Given the description of an element on the screen output the (x, y) to click on. 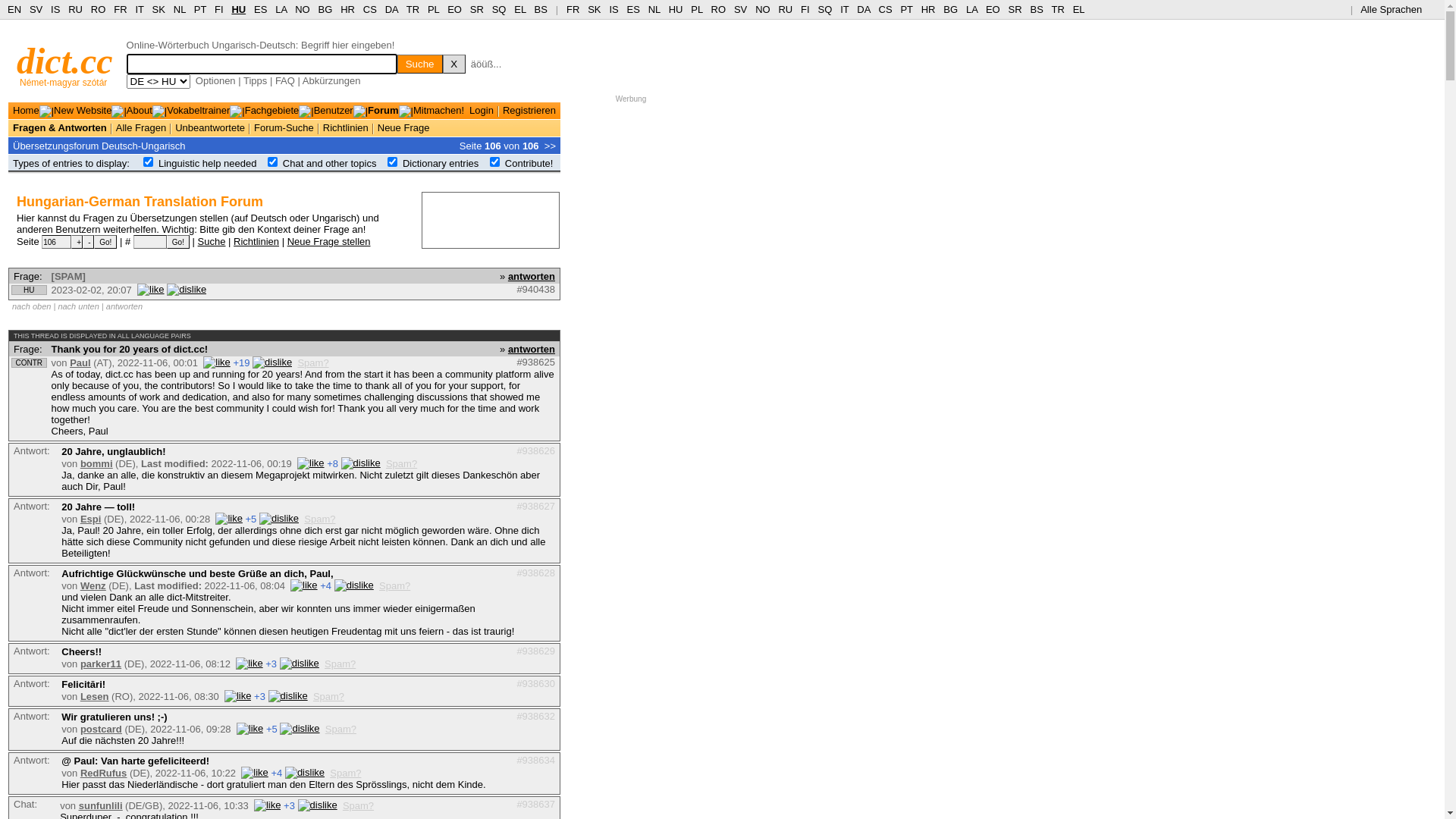
Mitmachen! Element type: text (438, 110)
Spam? Element type: text (328, 696)
SV Element type: text (35, 9)
FI Element type: text (804, 9)
Spam? Element type: text (312, 362)
on Element type: text (272, 161)
Richtlinien Element type: text (345, 127)
EO Element type: text (992, 9)
Spam? Element type: text (339, 663)
IS Element type: text (54, 9)
EL Element type: text (519, 9)
SR Element type: text (476, 9)
#938632 Element type: text (535, 715)
#938637 Element type: text (535, 803)
nach oben Element type: text (31, 305)
Neue Frage Element type: text (403, 127)
BG Element type: text (325, 9)
nach unten Element type: text (77, 305)
SR Element type: text (1015, 9)
Alle Fragen Element type: text (141, 127)
+8 Element type: text (332, 463)
Paul Element type: text (79, 362)
#938630 Element type: text (535, 683)
#940438 Element type: text (535, 288)
SV Element type: text (740, 9)
FR Element type: text (572, 9)
PL Element type: text (433, 9)
[SPAM] Element type: text (68, 276)
Hungarian-German Translation Forum Element type: text (139, 201)
Home Element type: text (25, 110)
SQ Element type: text (499, 9)
HU Element type: text (238, 9)
Espi Element type: text (90, 518)
NL Element type: text (654, 9)
ES Element type: text (260, 9)
Chat and other topics Element type: text (329, 163)
Suche Element type: text (419, 63)
NL Element type: text (179, 9)
Spam? Element type: text (344, 772)
+4 Element type: text (325, 585)
NO Element type: text (762, 9)
dict.cc Element type: text (64, 60)
ES Element type: text (633, 9)
+5 Element type: text (271, 728)
Wenz Element type: text (93, 585)
SQ Element type: text (824, 9)
on Element type: text (392, 161)
RO Element type: text (98, 9)
Spam? Element type: text (357, 805)
BS Element type: text (540, 9)
+3 Element type: text (288, 805)
SK Element type: text (593, 9)
CONTR Element type: text (28, 362)
SK Element type: text (158, 9)
EO Element type: text (454, 9)
NO Element type: text (302, 9)
Benutzer Element type: text (333, 110)
PT Element type: text (906, 9)
antworten Element type: text (531, 275)
IS Element type: text (613, 9)
About Element type: text (139, 110)
on Element type: text (148, 161)
Optionen Element type: text (215, 80)
#938626 Element type: text (535, 449)
PL Element type: text (696, 9)
antworten Element type: text (124, 305)
Spam? Element type: text (319, 518)
bommi Element type: text (96, 463)
Lesen Element type: text (94, 696)
RU Element type: text (75, 9)
TR Element type: text (1057, 9)
LA Element type: text (280, 9)
FI Element type: text (218, 9)
Spam? Element type: text (340, 728)
Go! Element type: text (177, 241)
Richtlinien Element type: text (256, 240)
HU Element type: text (28, 289)
X Element type: text (453, 63)
Tipps Element type: text (254, 80)
Neue Frage stellen Element type: text (328, 240)
Spam? Element type: text (401, 463)
Registrieren Element type: text (528, 110)
Spam? Element type: text (394, 585)
Unbeantwortete Element type: text (209, 127)
+19 Element type: text (240, 362)
TR Element type: text (412, 9)
+3 Element type: text (259, 696)
postcard Element type: text (101, 728)
Login Element type: text (481, 110)
+4 Element type: text (276, 772)
Contribute! Element type: text (529, 163)
parker11 Element type: text (100, 663)
PT Element type: text (200, 9)
sunfunlili Element type: text (100, 805)
#938628 Element type: text (535, 572)
Forum Element type: text (382, 110)
RedRufus Element type: text (103, 772)
LA Element type: text (971, 9)
Linguistic help needed Element type: text (207, 163)
EN Element type: text (14, 9)
Fragen & Antworten Element type: text (59, 127)
Alle Sprachen  Element type: text (1397, 9)
>> Element type: text (549, 144)
BS Element type: text (1035, 9)
Dictionary entries Element type: text (440, 163)
antworten Element type: text (531, 348)
Suche Element type: text (211, 240)
EL Element type: text (1079, 9)
RO Element type: text (718, 9)
HU Element type: text (675, 9)
BG Element type: text (950, 9)
on Element type: text (494, 161)
#938629 Element type: text (535, 649)
#938627 Element type: text (535, 505)
New Website Element type: text (82, 110)
RU Element type: text (785, 9)
DA Element type: text (862, 9)
CS Element type: text (884, 9)
#938625 Element type: text (535, 361)
HR Element type: text (347, 9)
FR Element type: text (119, 9)
IT Element type: text (138, 9)
Forum-Suche Element type: text (283, 127)
+3 Element type: text (270, 663)
DA Element type: text (391, 9)
IT Element type: text (844, 9)
#938634 Element type: text (535, 759)
FAQ Element type: text (284, 80)
Vokabeltrainer Element type: text (197, 110)
HR Element type: text (928, 9)
Fachgebiete Element type: text (271, 110)
+5 Element type: text (251, 518)
Go! Element type: text (105, 241)
CS Element type: text (369, 9)
